Given the description of an element on the screen output the (x, y) to click on. 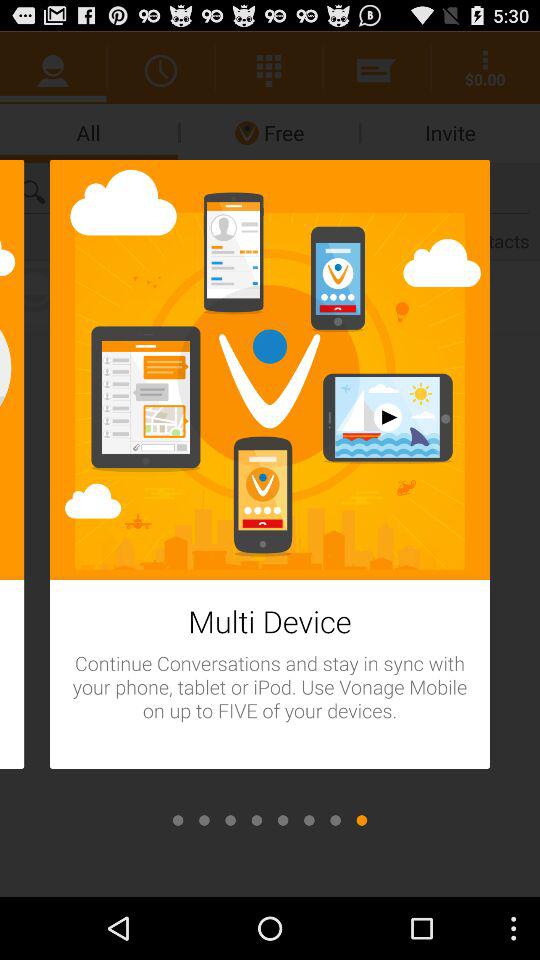
select image (335, 820)
